Given the description of an element on the screen output the (x, y) to click on. 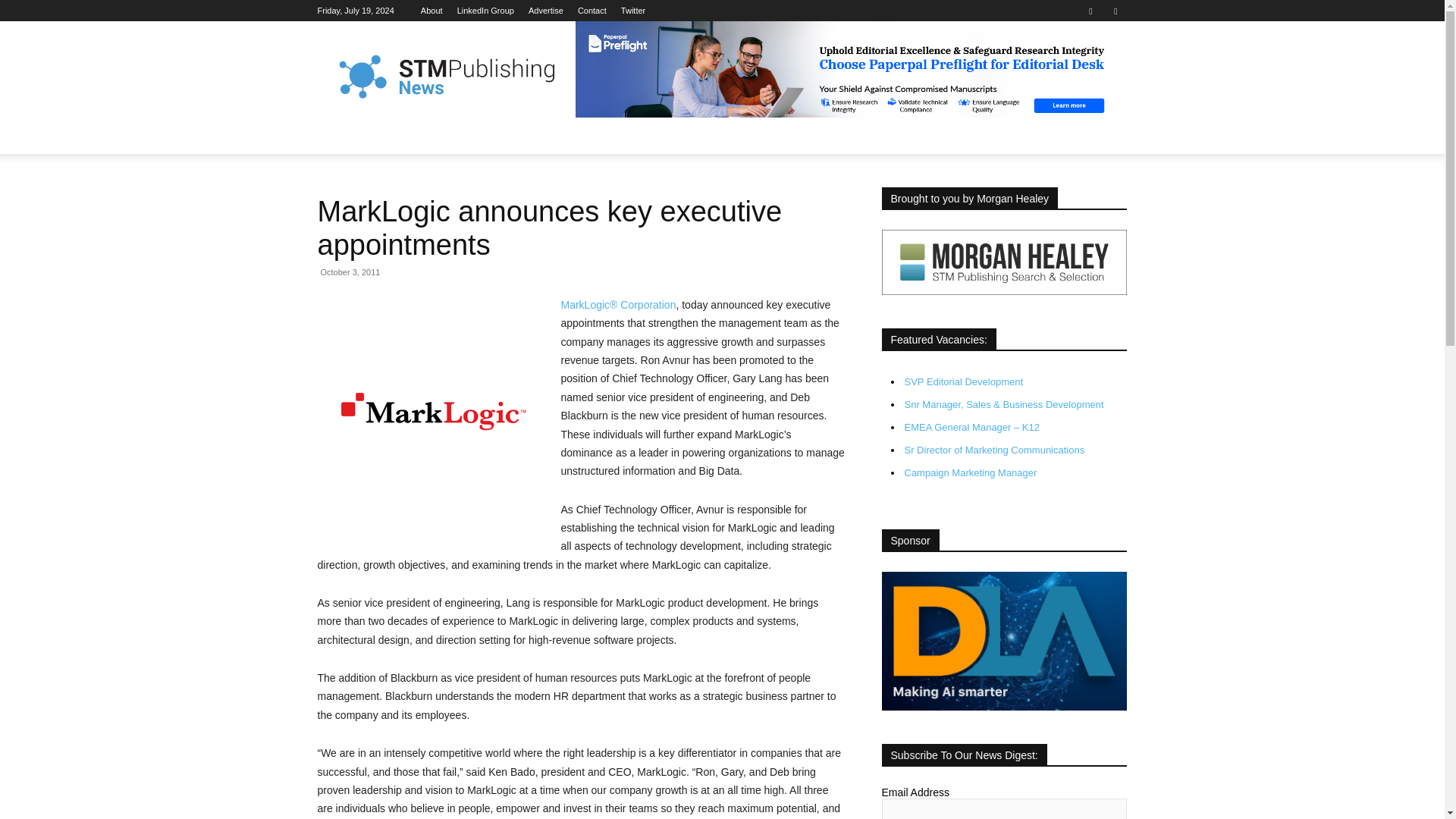
LinkedIn (485, 10)
LinkedIn Group (485, 10)
HOME (342, 135)
Twitter (633, 10)
FEATURED (411, 135)
Advertise (545, 10)
About (431, 10)
Linkedin (1090, 10)
Twitter (1114, 10)
Contact (592, 10)
